Given the description of an element on the screen output the (x, y) to click on. 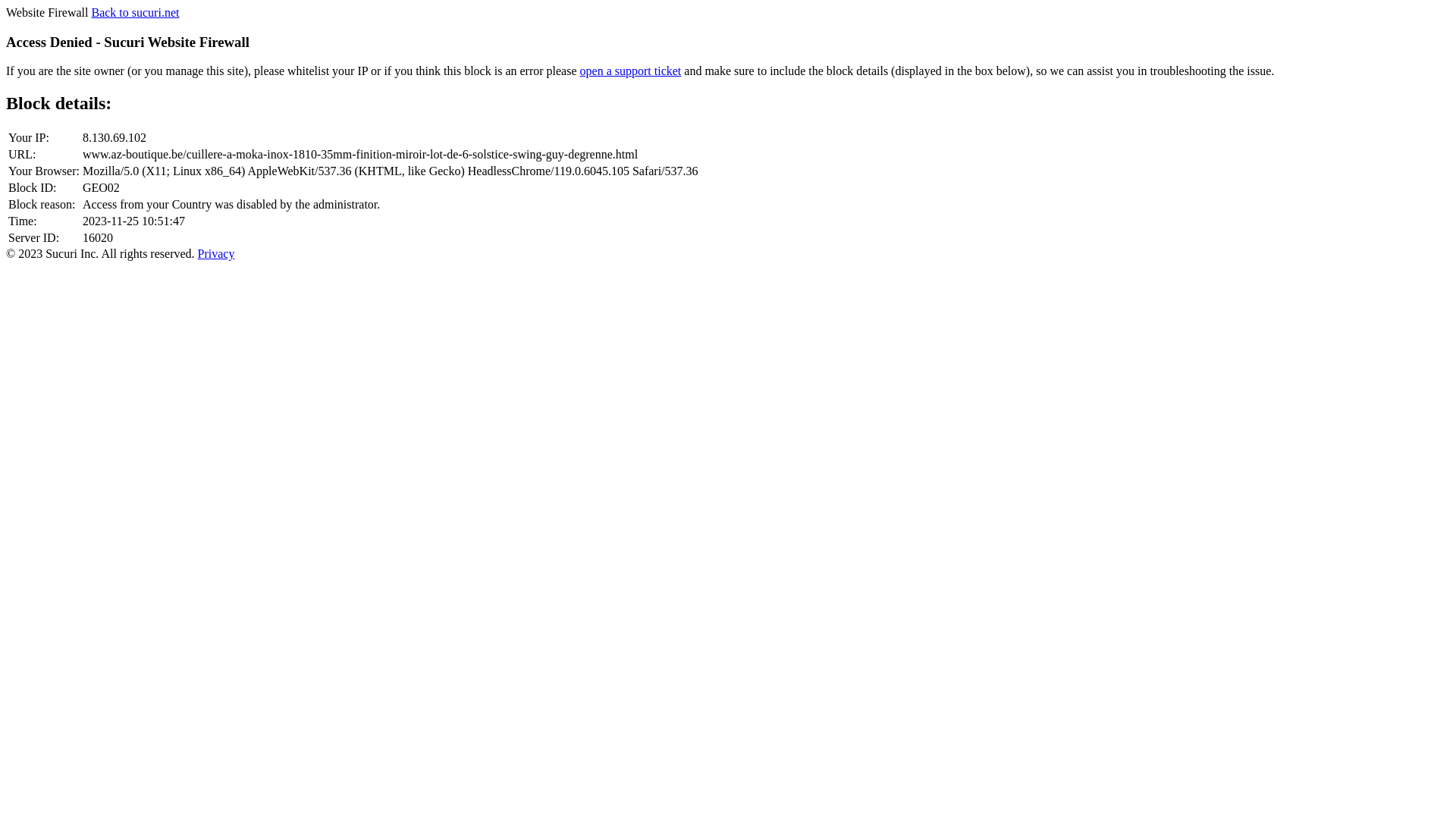
Privacy Element type: text (216, 253)
Back to sucuri.net Element type: text (134, 12)
open a support ticket Element type: text (630, 70)
